Given the description of an element on the screen output the (x, y) to click on. 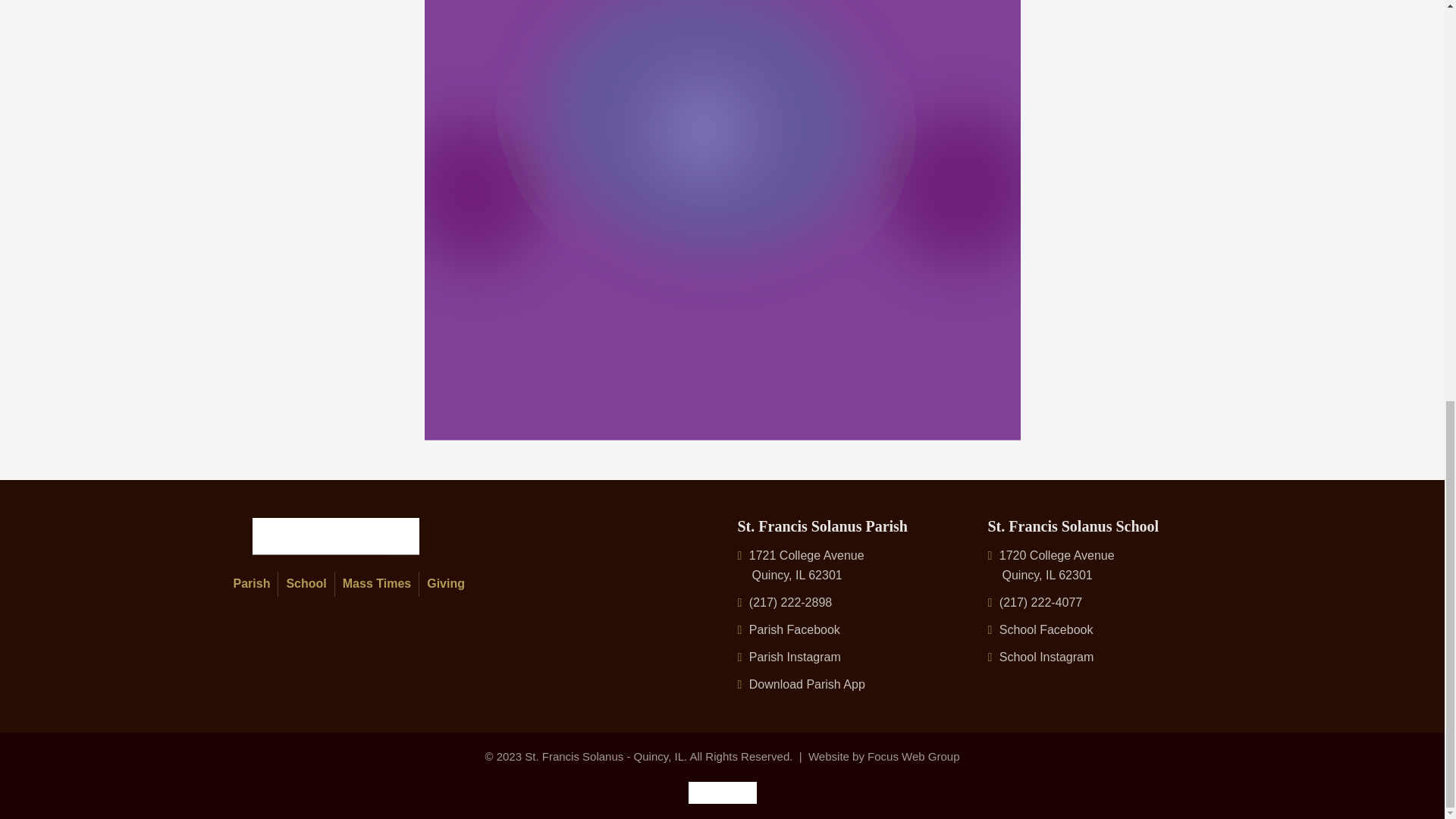
focus-web-group-badge (722, 792)
stf-footer-logo-440 (335, 536)
